Given the description of an element on the screen output the (x, y) to click on. 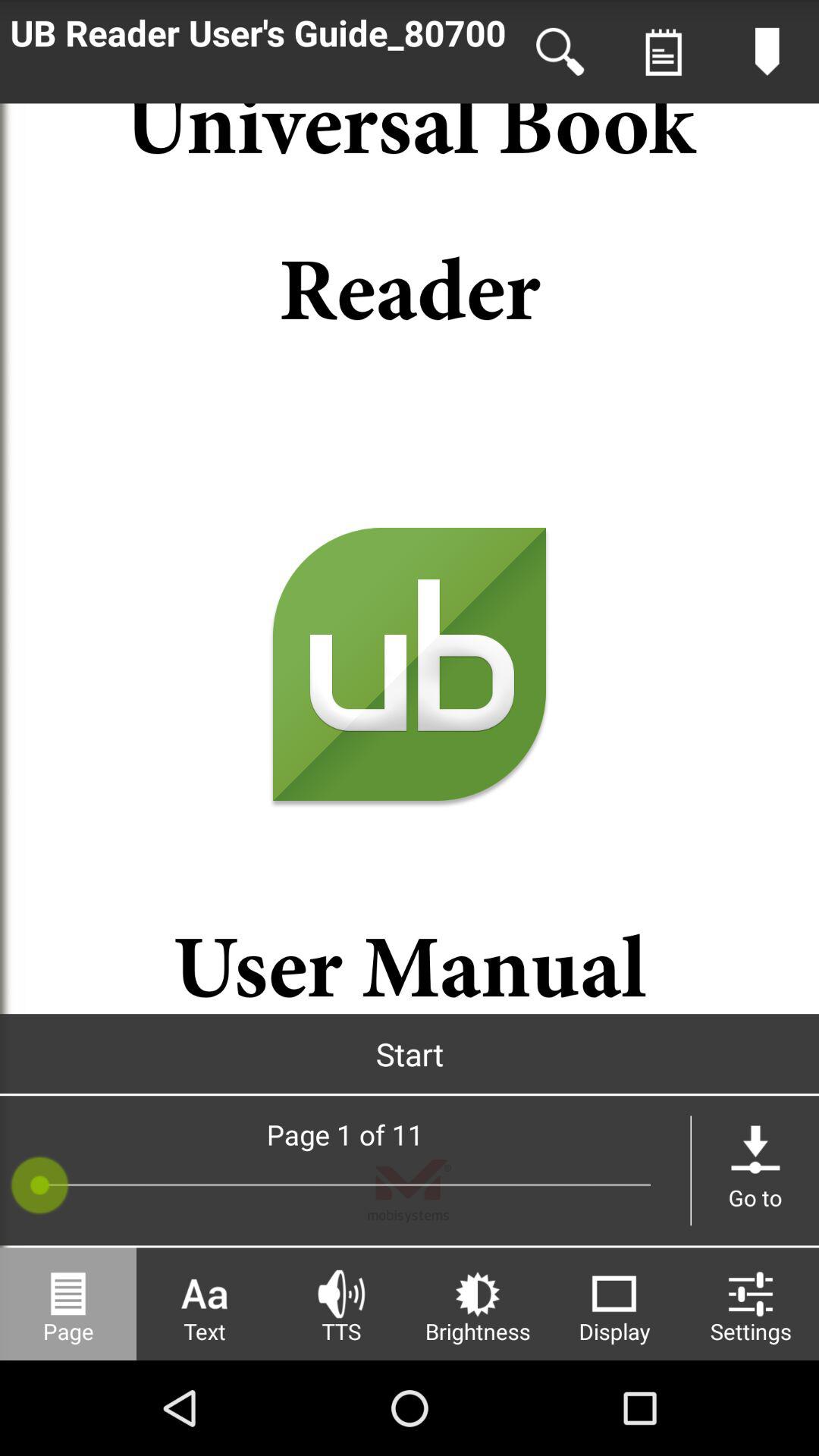
select the last button in the menu bar (750, 1303)
click on the fourth button in bottom menu bar (477, 1303)
click the button above the settings button on the web page (755, 1170)
click on the second button from the right side at bottom of the page (614, 1303)
click on the third button at the bottom of the page from left side (340, 1303)
